Given the description of an element on the screen output the (x, y) to click on. 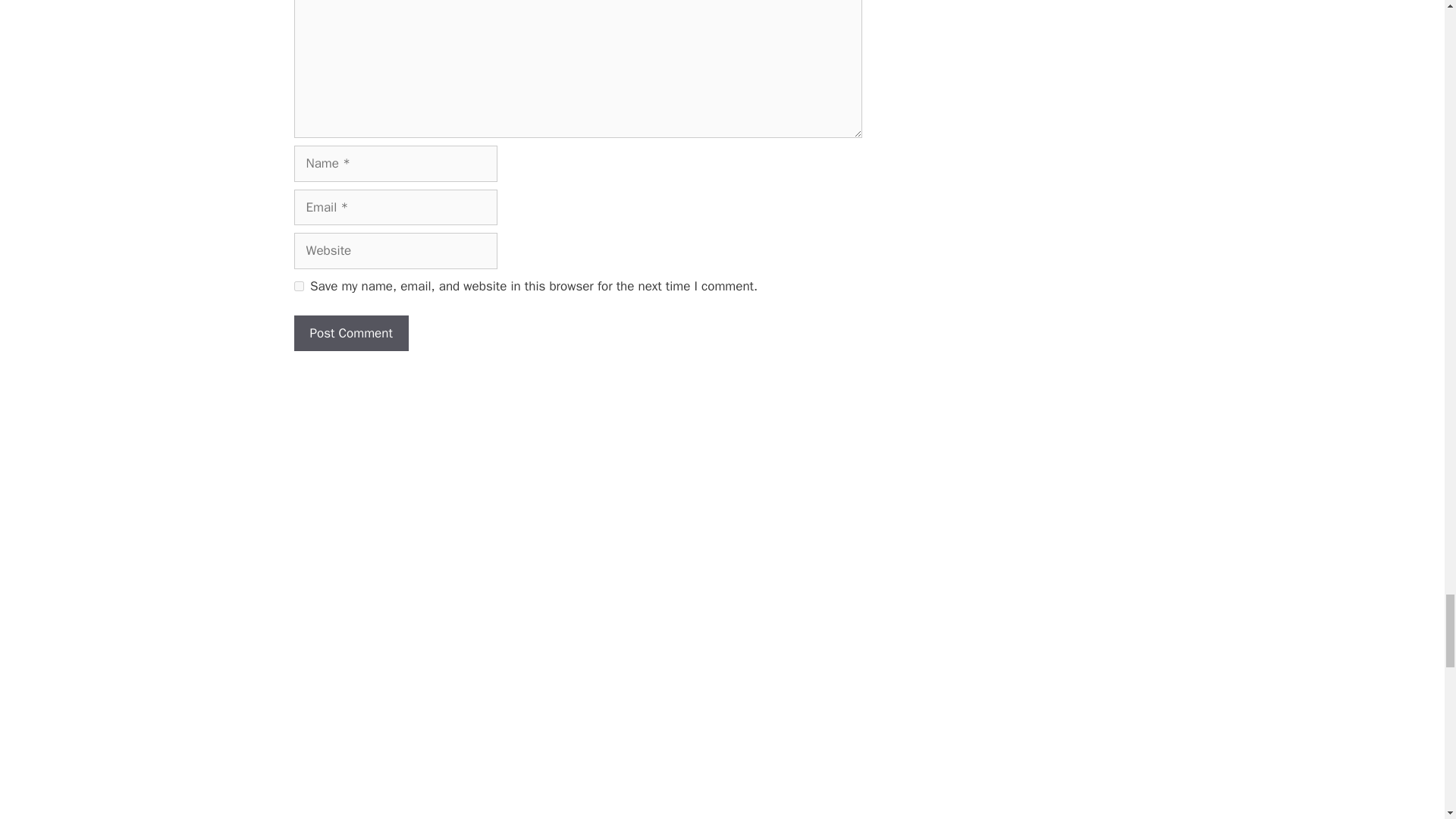
Post Comment (351, 333)
yes (299, 286)
Post Comment (351, 333)
